Given the description of an element on the screen output the (x, y) to click on. 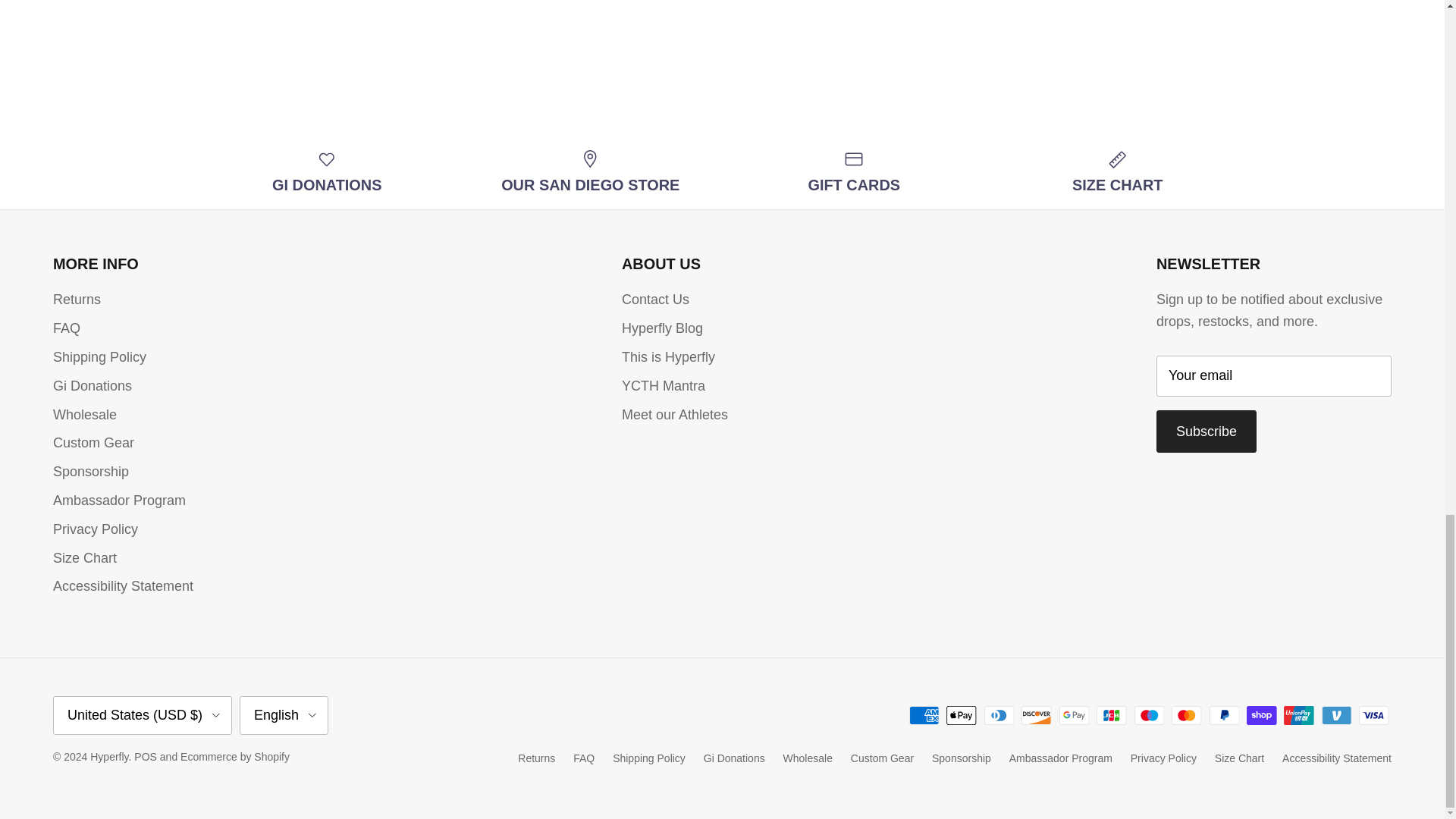
Discover (1036, 714)
Google Pay (1074, 714)
Apple Pay (961, 714)
Diners Club (999, 714)
American Express (923, 714)
